Given the description of an element on the screen output the (x, y) to click on. 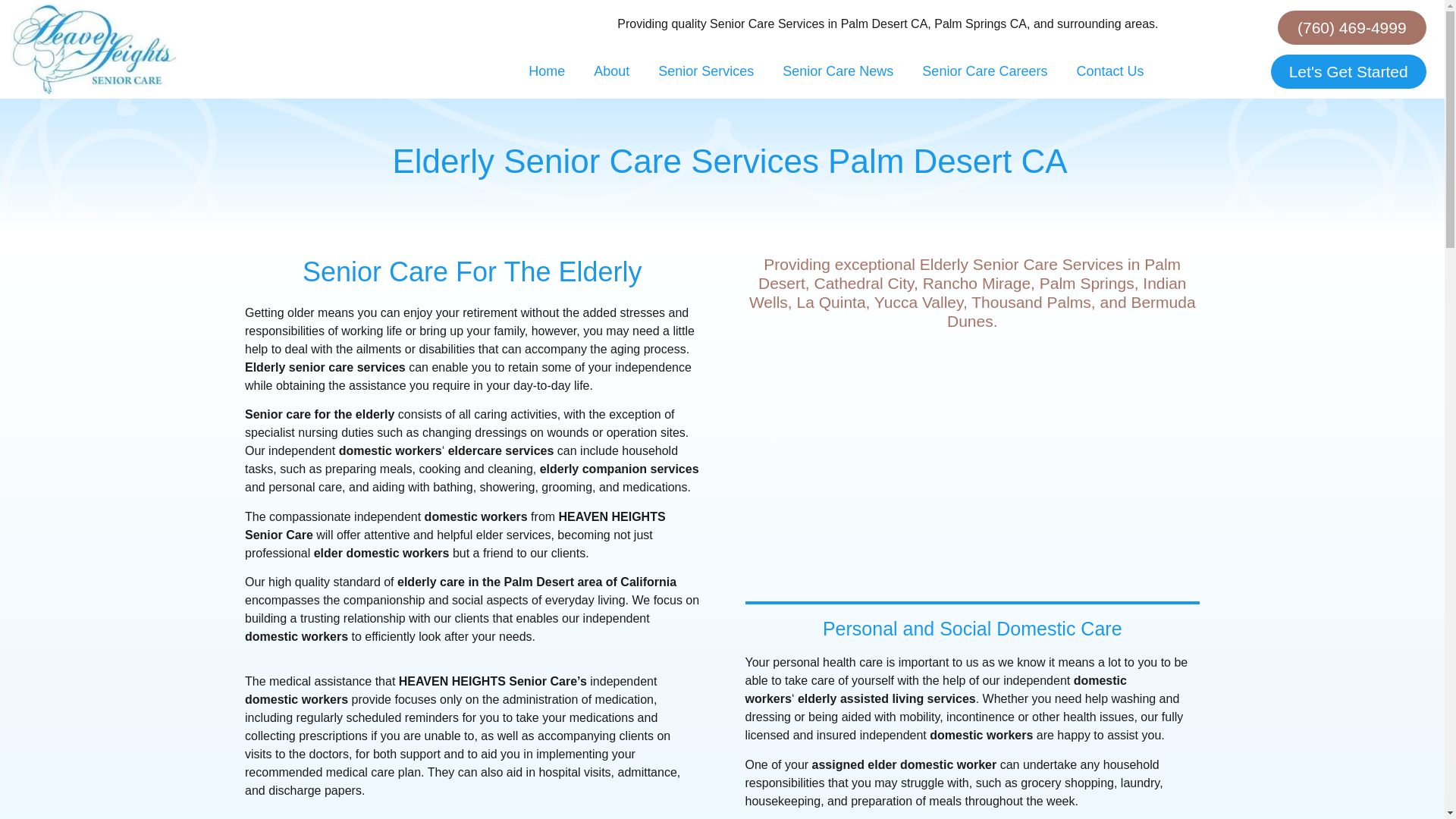
Senior Care News (837, 70)
Senior Care Careers (984, 70)
Contact Us (1109, 70)
Home (546, 70)
Senior Services (705, 70)
Let's Get Started (1348, 71)
About (611, 70)
